Given the description of an element on the screen output the (x, y) to click on. 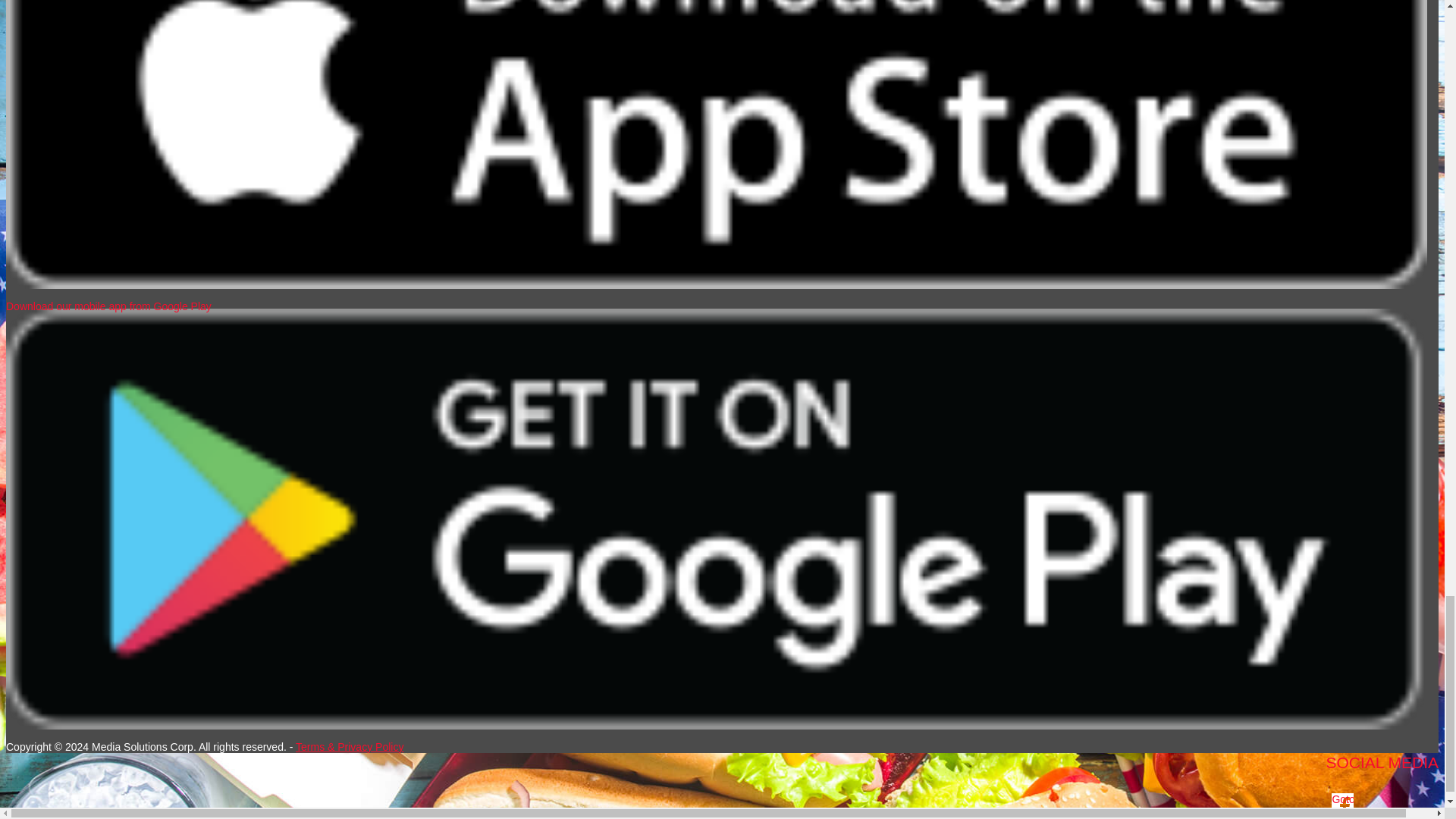
Goto to our Facebook page (1343, 803)
